Given the description of an element on the screen output the (x, y) to click on. 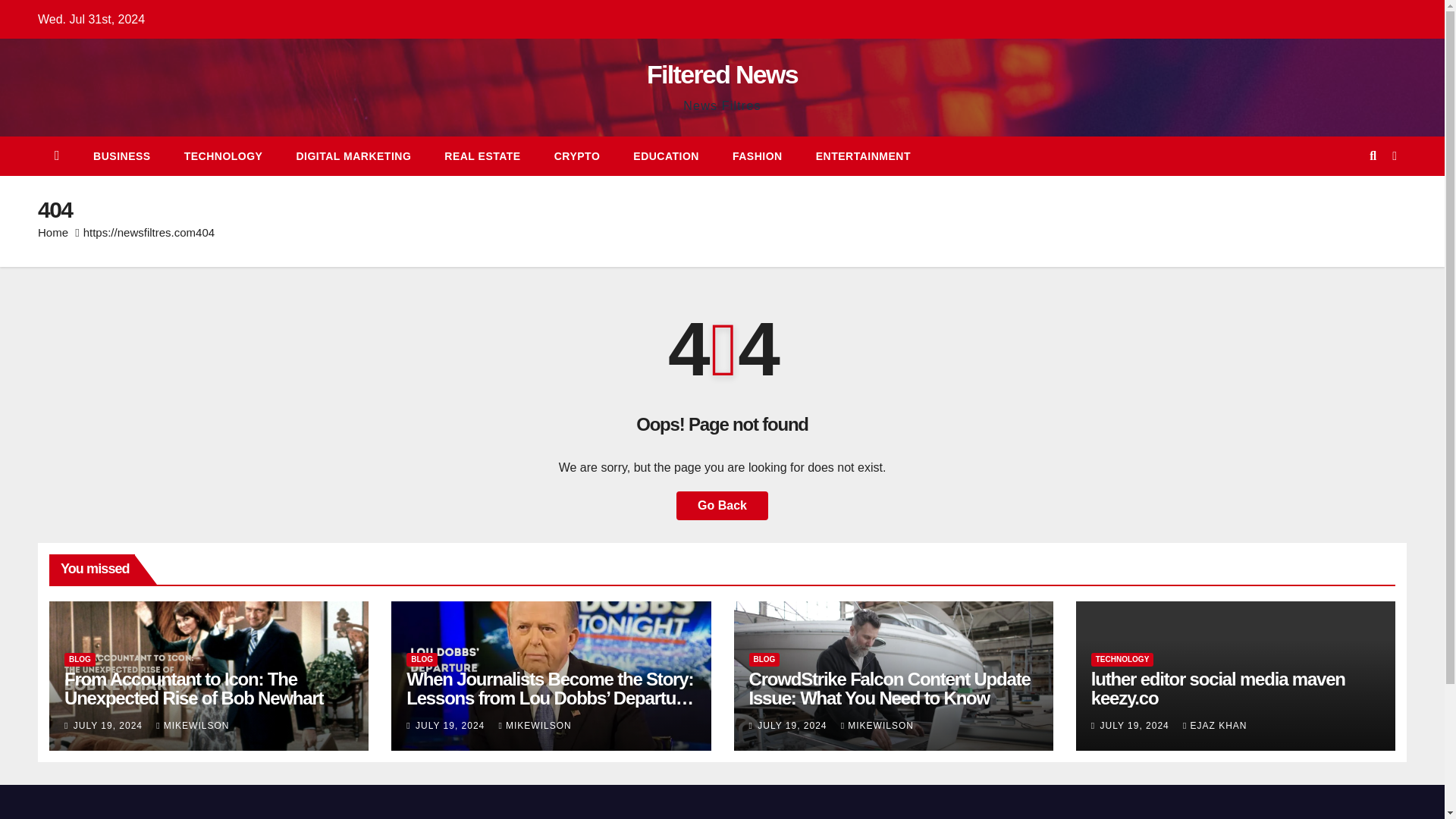
luther editor social media maven keezy.co (1217, 688)
Entertainment (863, 156)
FASHION (757, 156)
Digital Marketing (353, 156)
REAL ESTATE (482, 156)
TECHNOLOGY (223, 156)
Go Back (722, 505)
EDUCATION (665, 156)
DIGITAL MARKETING (353, 156)
JULY 19, 2024 (110, 725)
MIKEWILSON (877, 725)
Permalink to: luther editor social media maven keezy.co (1217, 688)
JULY 19, 2024 (793, 725)
BLOG (764, 659)
